Given the description of an element on the screen output the (x, y) to click on. 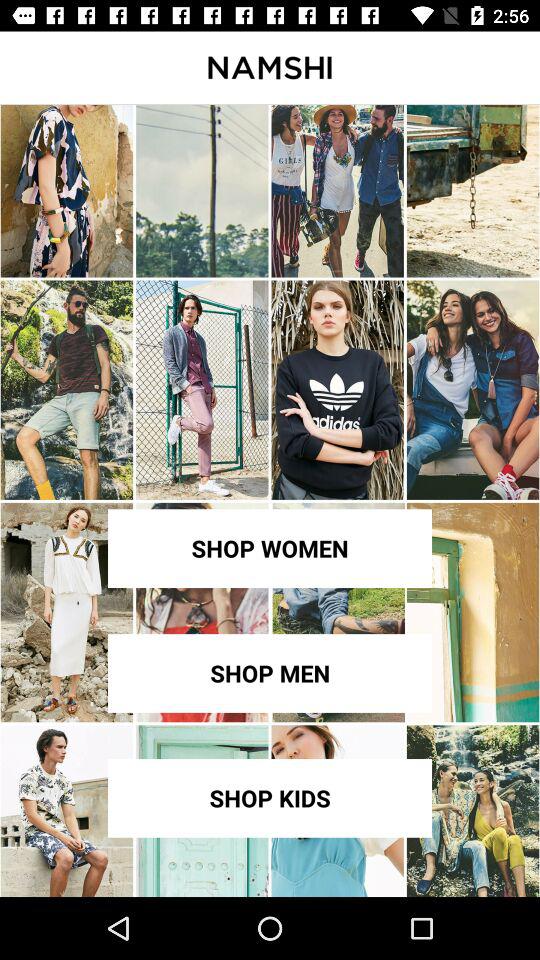
swipe to shop kids item (270, 797)
